Given the description of an element on the screen output the (x, y) to click on. 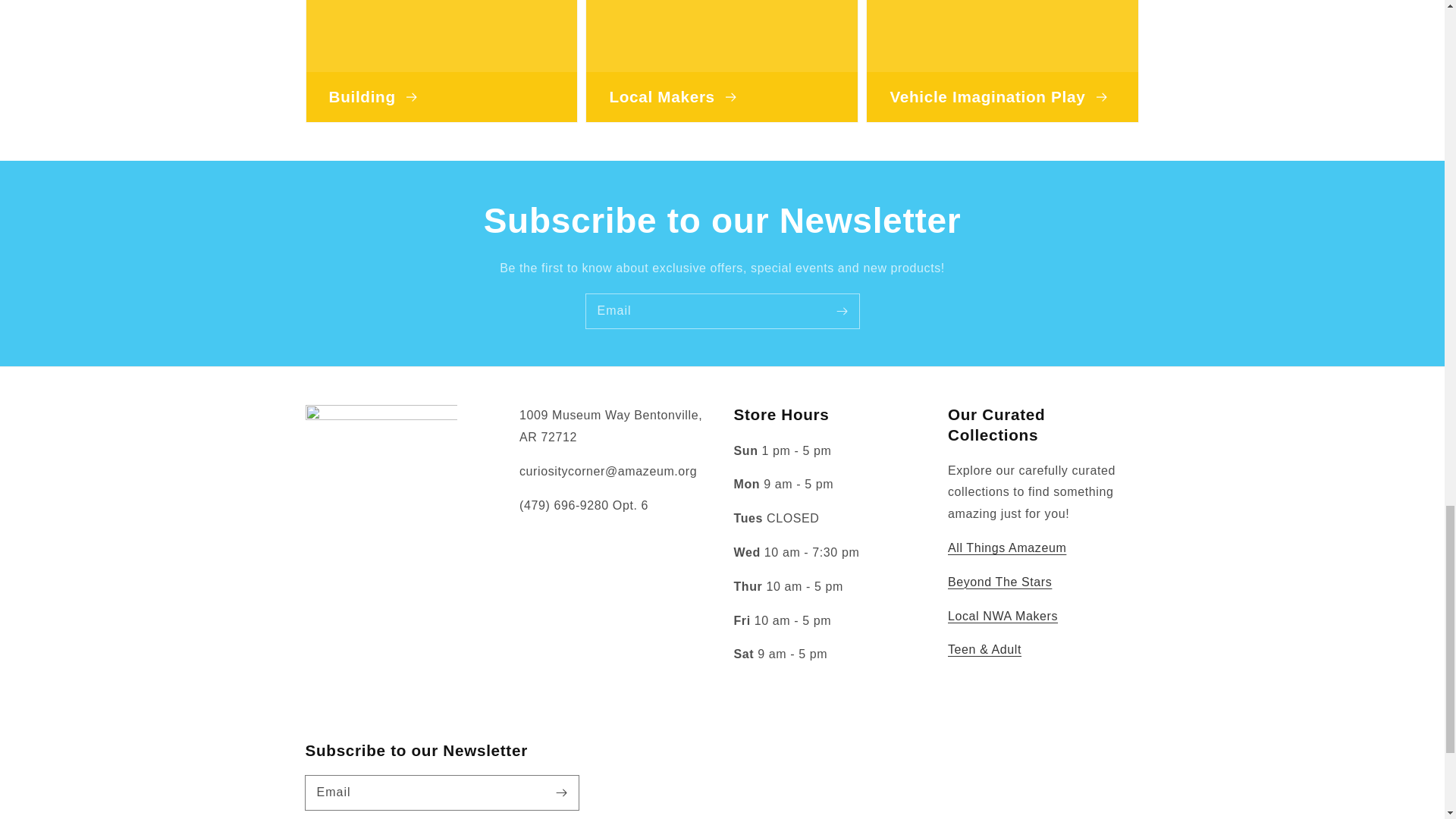
Beyond The Stars (999, 581)
Local Makers (1002, 615)
Branded Merch (1006, 547)
